Given the description of an element on the screen output the (x, y) to click on. 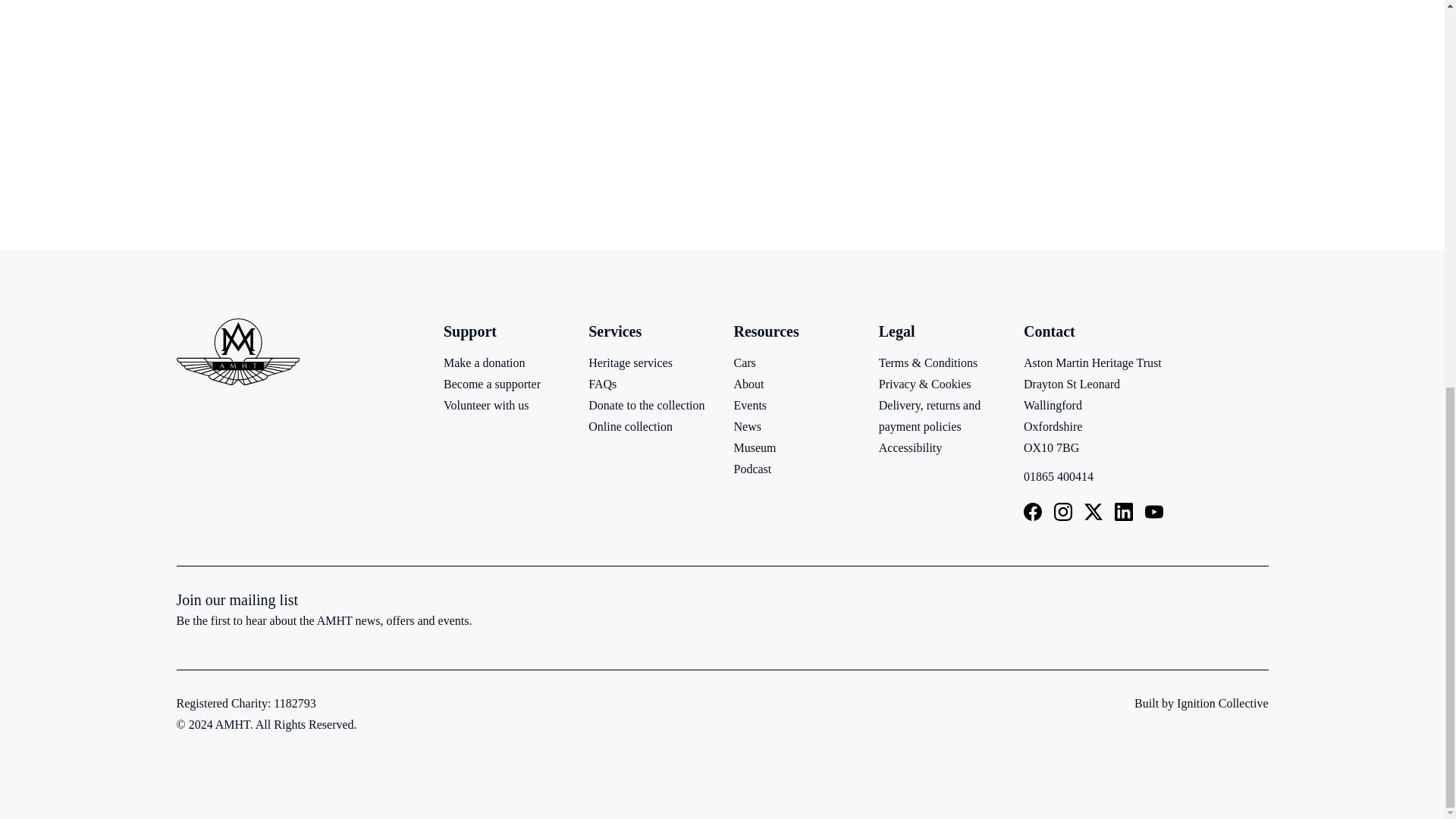
LinkedIn (1123, 511)
YouTube (1153, 511)
X (1093, 511)
Facebook (1032, 511)
Instagram (1062, 511)
